Given the description of an element on the screen output the (x, y) to click on. 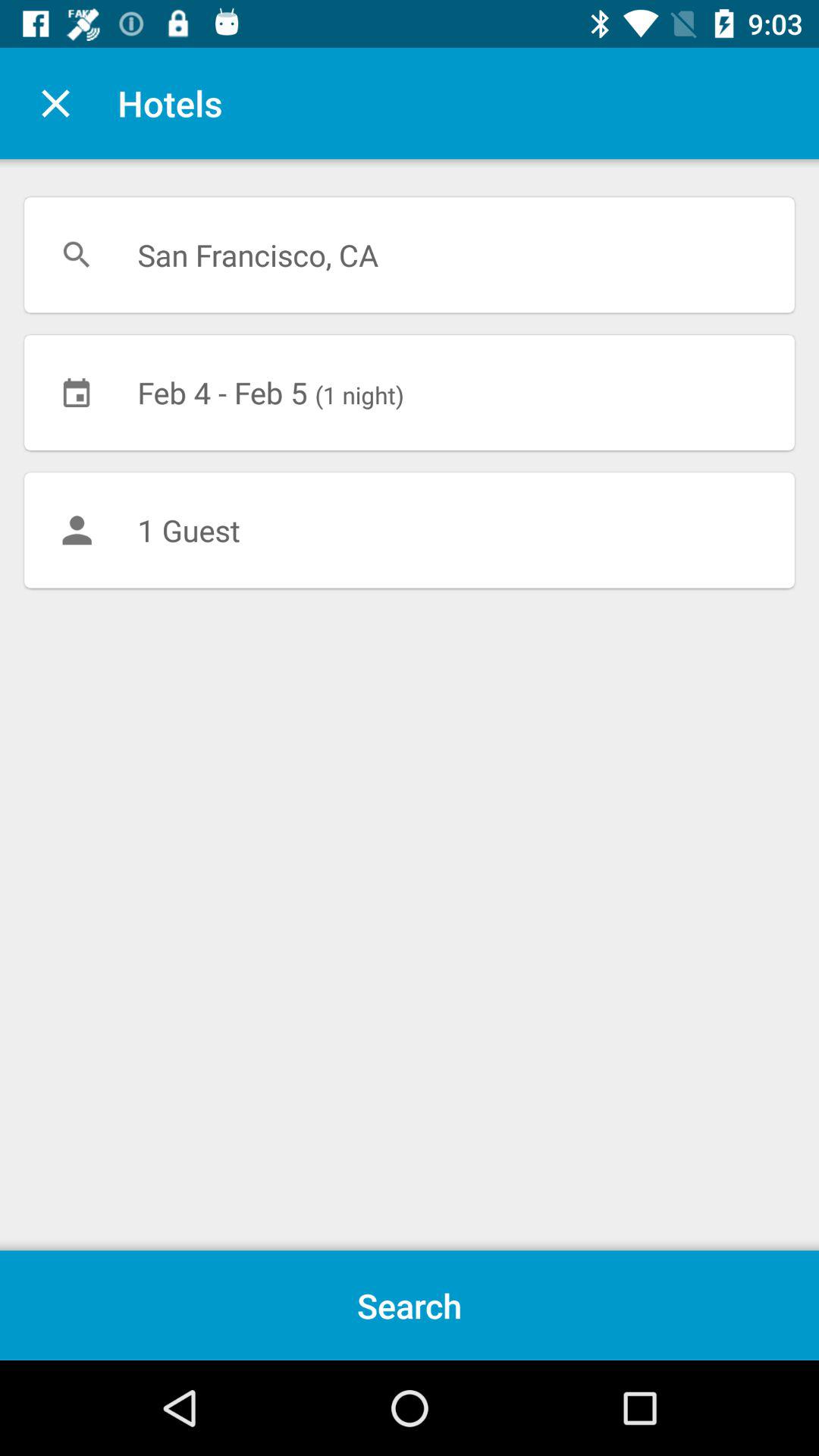
choose the item above feb 4 feb (409, 254)
